Given the description of an element on the screen output the (x, y) to click on. 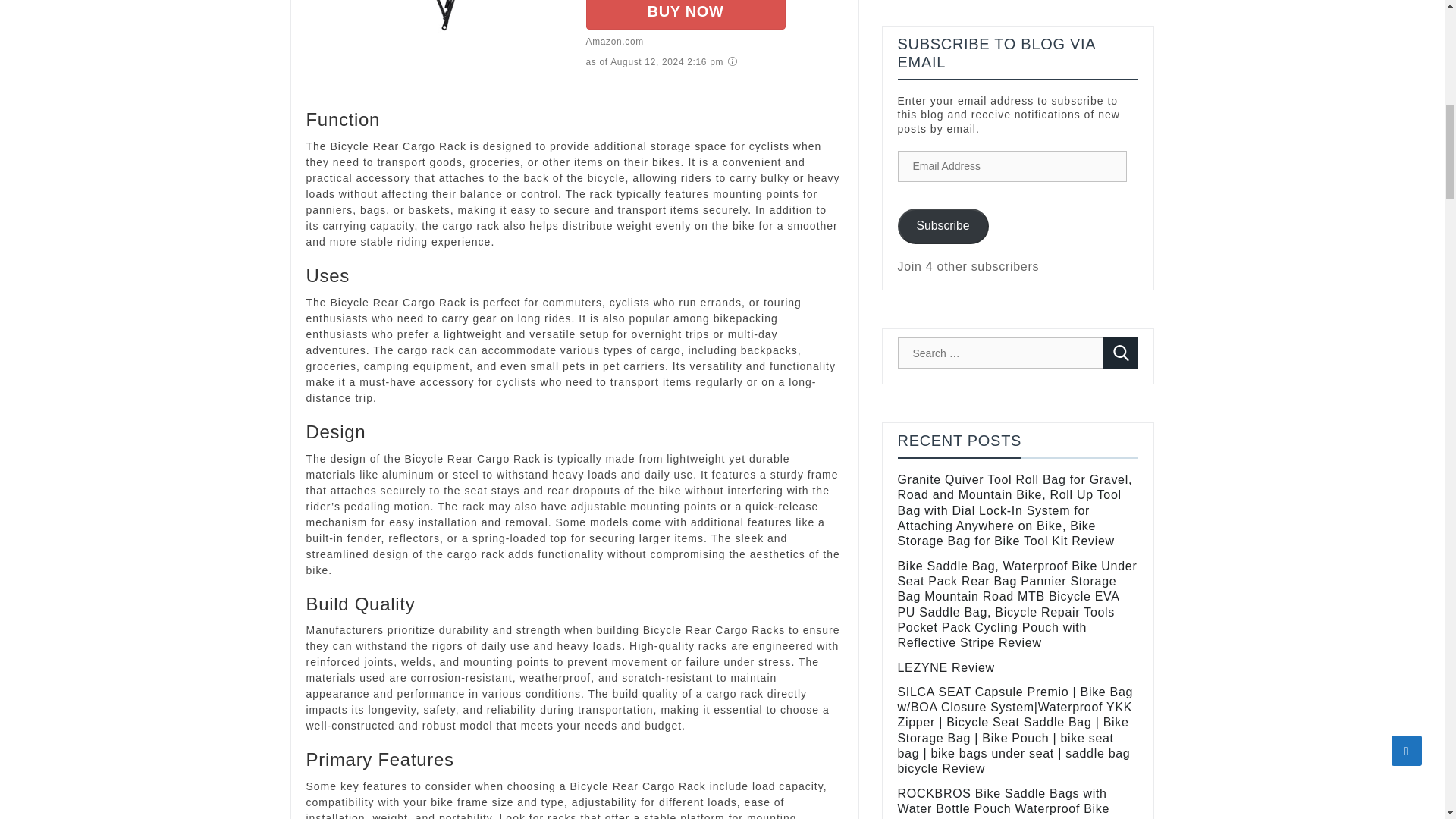
BUY NOW (684, 14)
Search (1120, 352)
Search (1120, 352)
